Given the description of an element on the screen output the (x, y) to click on. 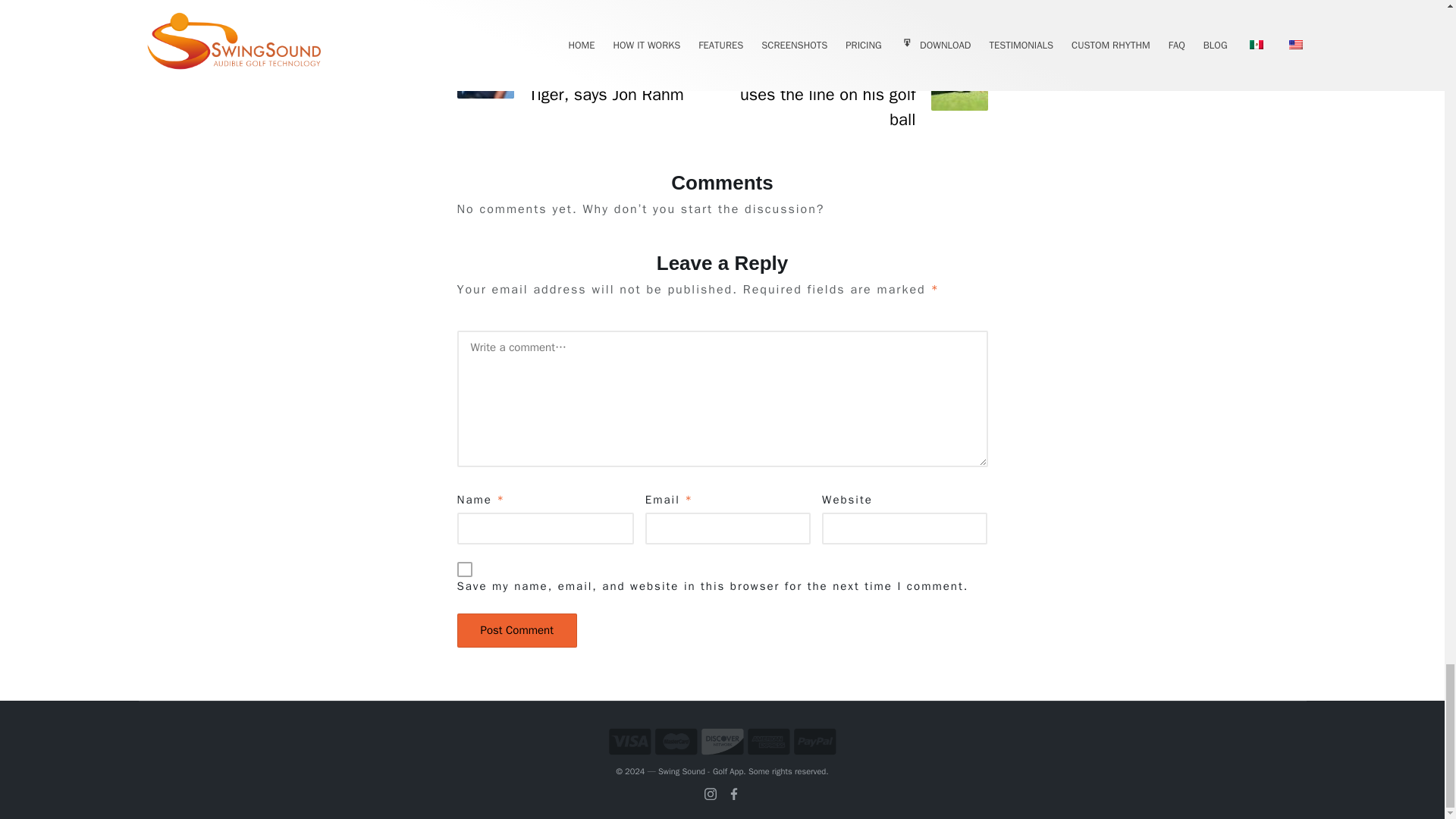
yes (464, 569)
Instagram (710, 793)
Post Comment (516, 630)
Facebook (733, 793)
Post Comment (516, 630)
